Given the description of an element on the screen output the (x, y) to click on. 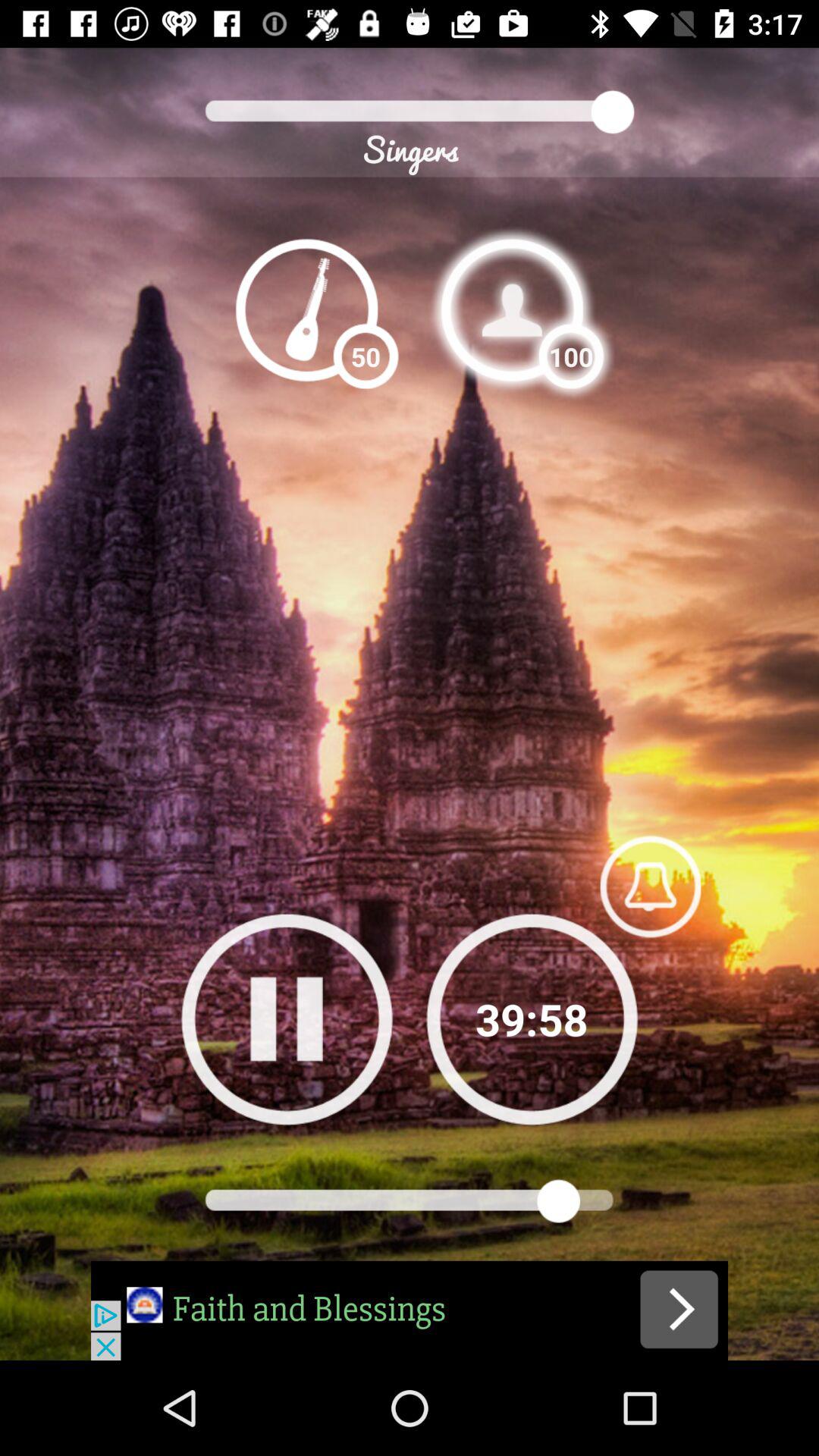
pause audio (286, 1018)
